Given the description of an element on the screen output the (x, y) to click on. 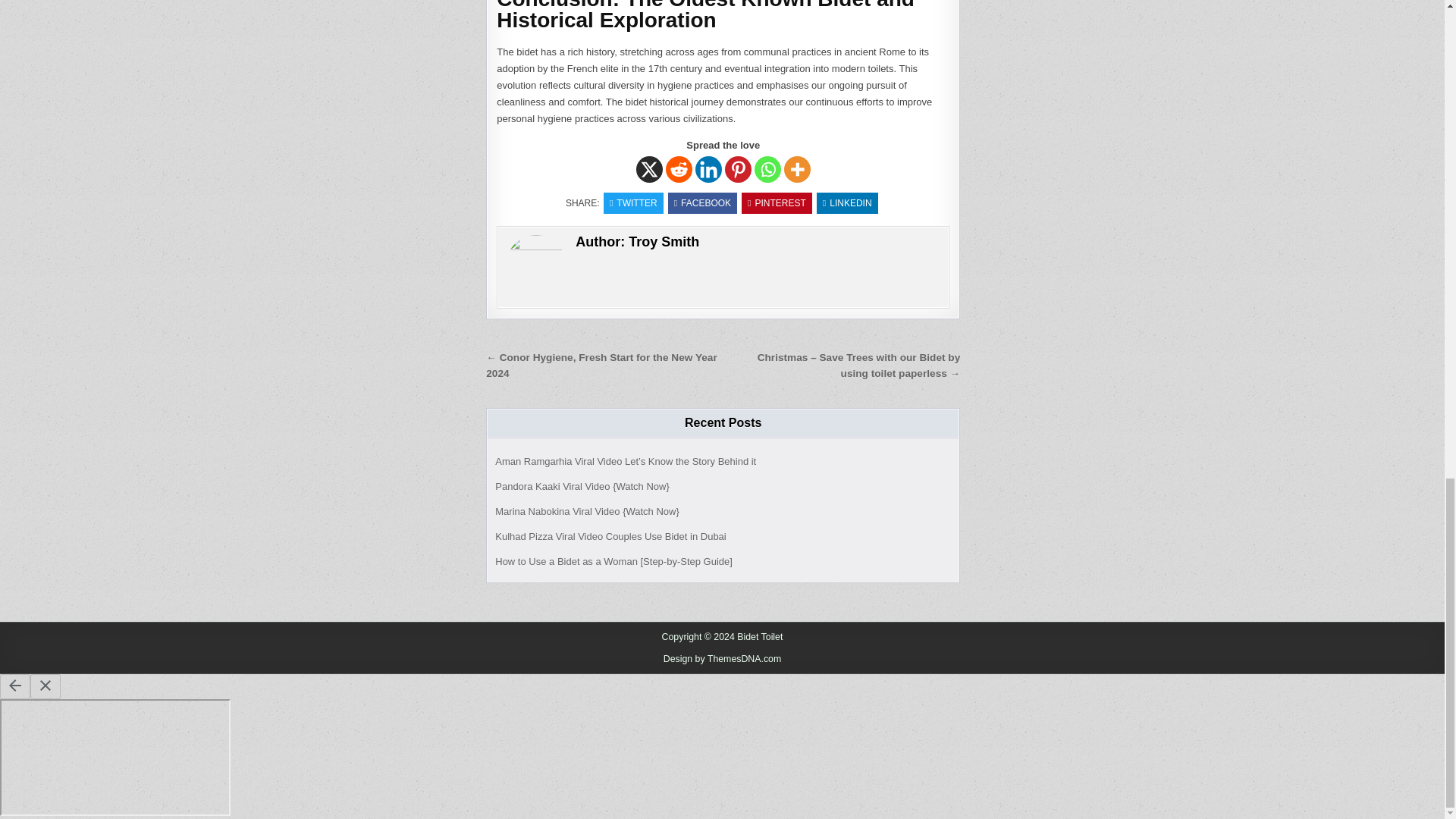
Pinterest (738, 169)
FACEBOOK (702, 202)
Share this on Facebook (702, 202)
Reddit (679, 169)
X (649, 169)
Whatsapp (767, 169)
TWITTER (633, 202)
Linkedin (708, 169)
More (797, 169)
LINKEDIN (846, 202)
